Given the description of an element on the screen output the (x, y) to click on. 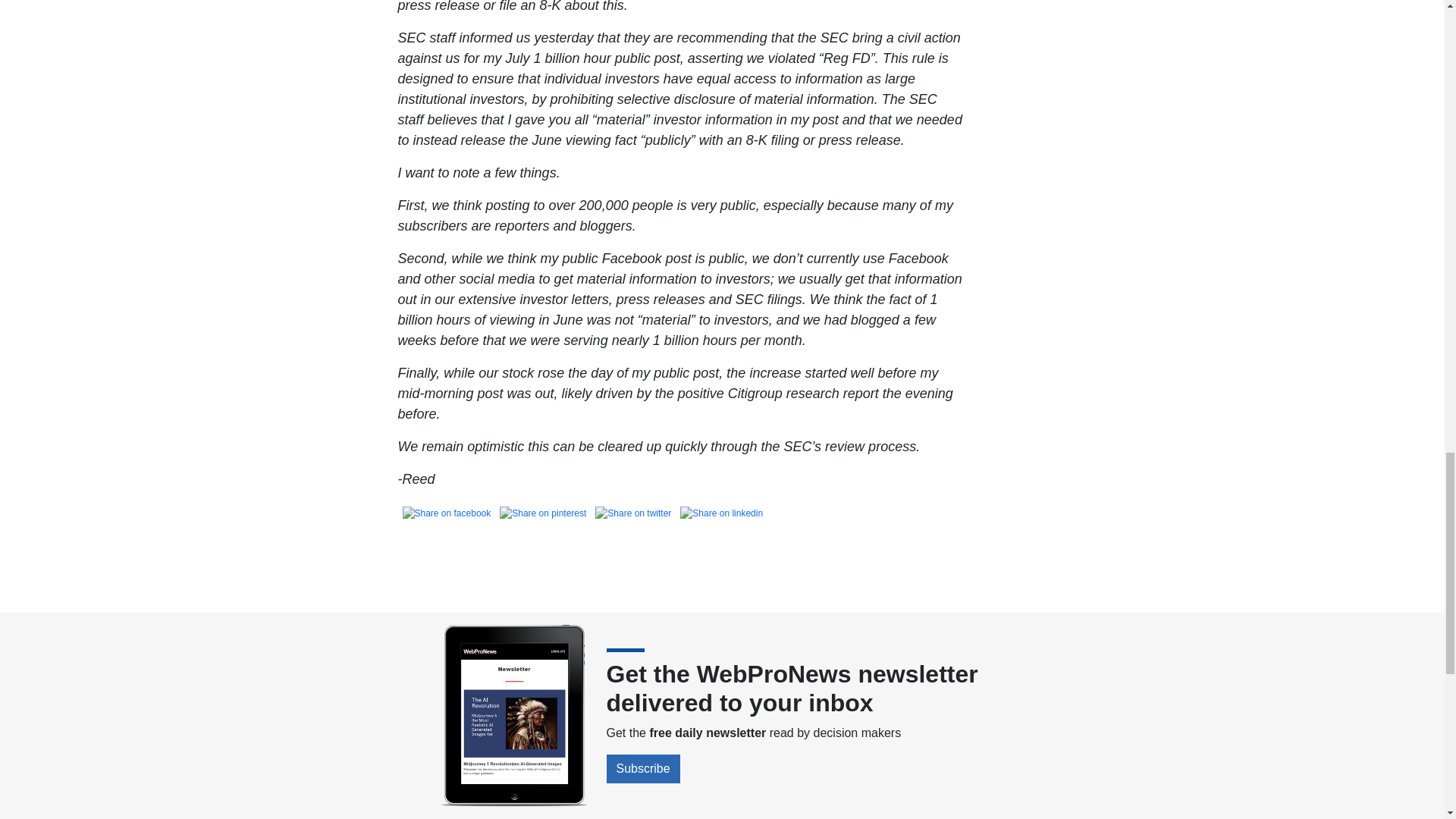
pinterest (543, 513)
facebook (446, 513)
twitter (633, 513)
